Given the description of an element on the screen output the (x, y) to click on. 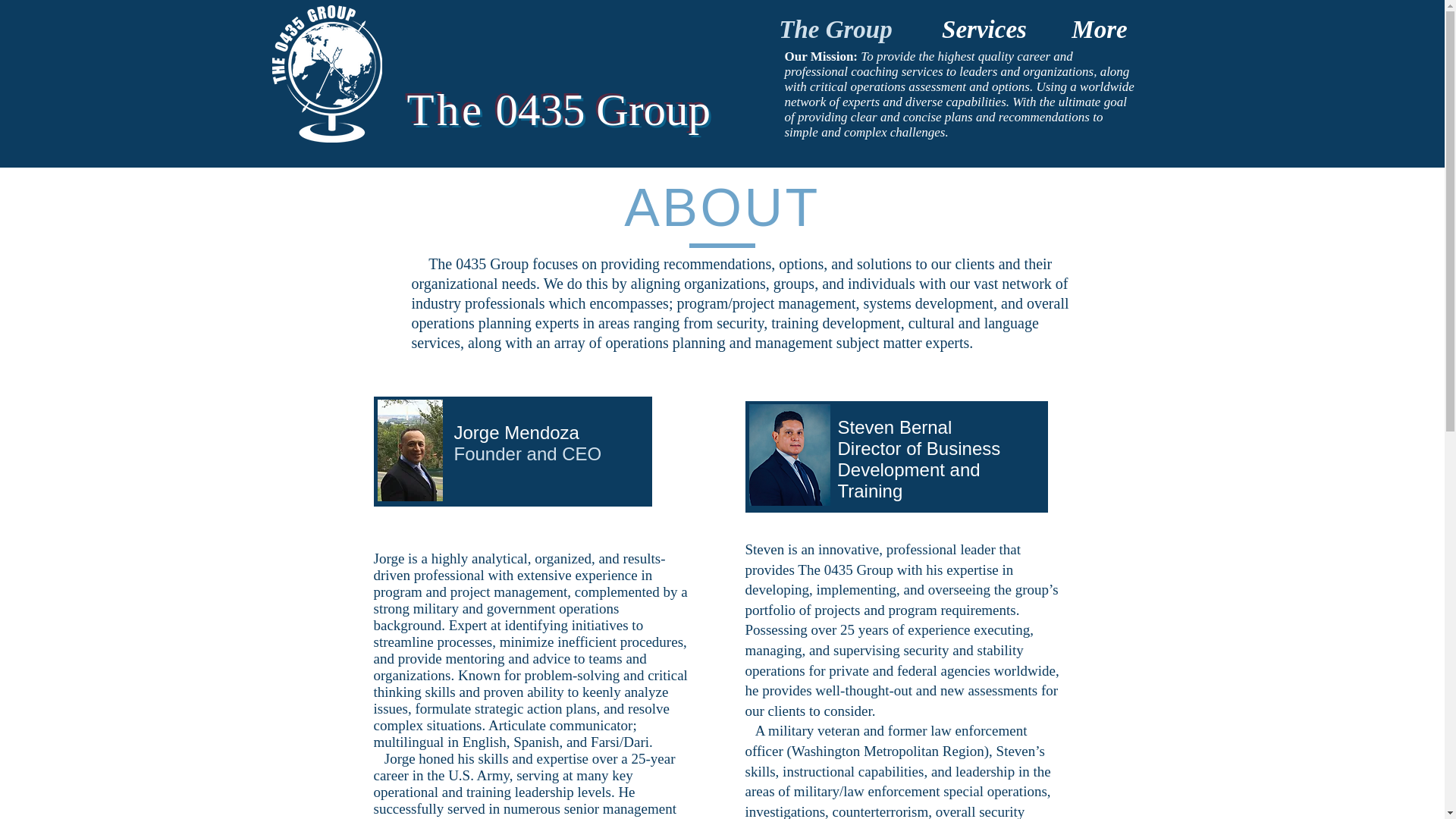
The (444, 110)
The Group (836, 26)
Services (983, 26)
